Given the description of an element on the screen output the (x, y) to click on. 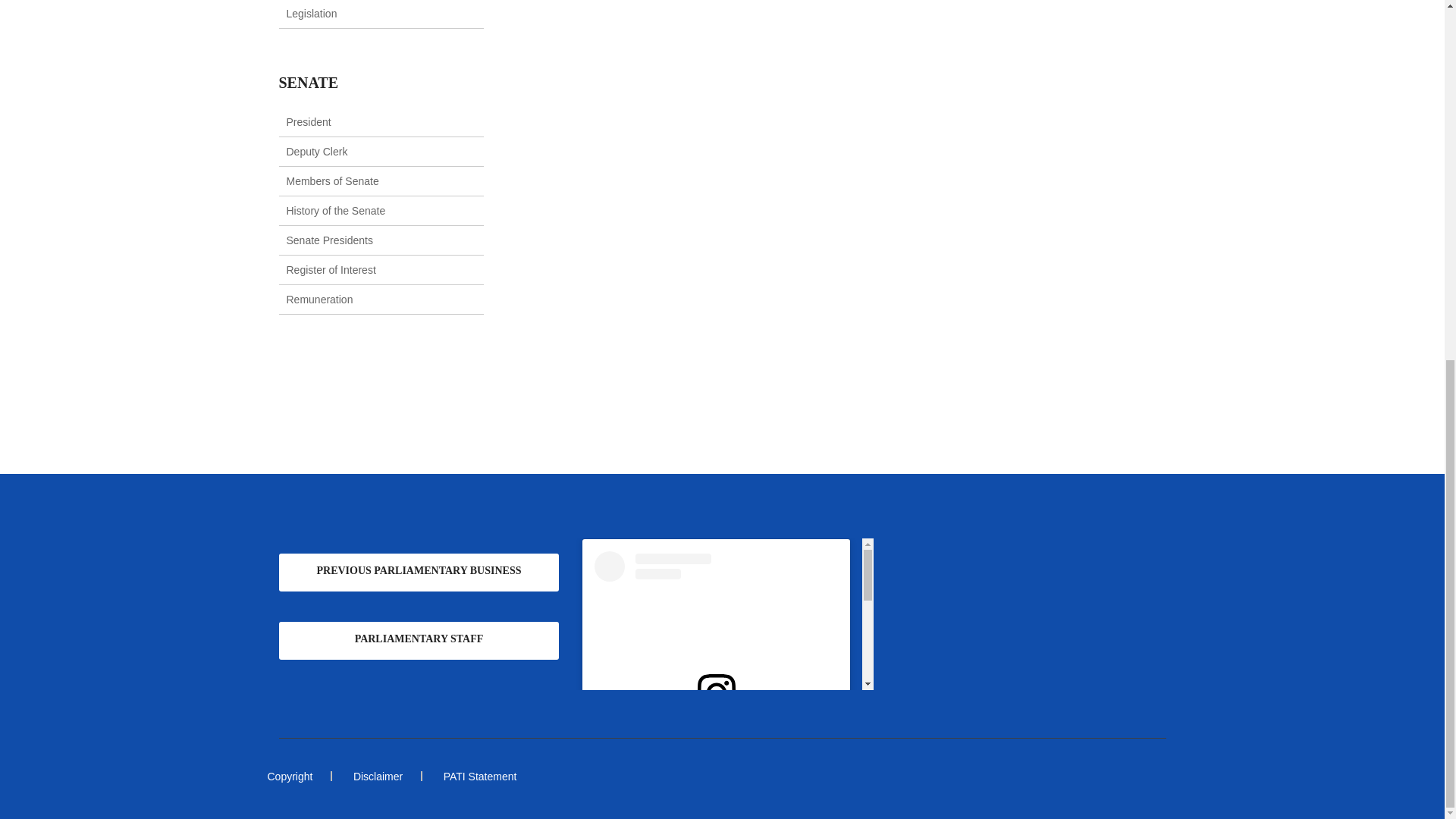
Senate Presidents (329, 240)
Remuneration (319, 299)
PREVIOUS PARLIAMENTARY BUSINESS (419, 572)
President (308, 121)
Register of Interest (330, 269)
The Reproduction of Bermuda Legislation (357, 9)
Deputy Clerk (316, 151)
fb:page Facebook Social Plugin (1013, 614)
History of the Senate (335, 210)
PARLIAMENTARY STAFF (419, 640)
Members of Senate (332, 181)
